Given the description of an element on the screen output the (x, y) to click on. 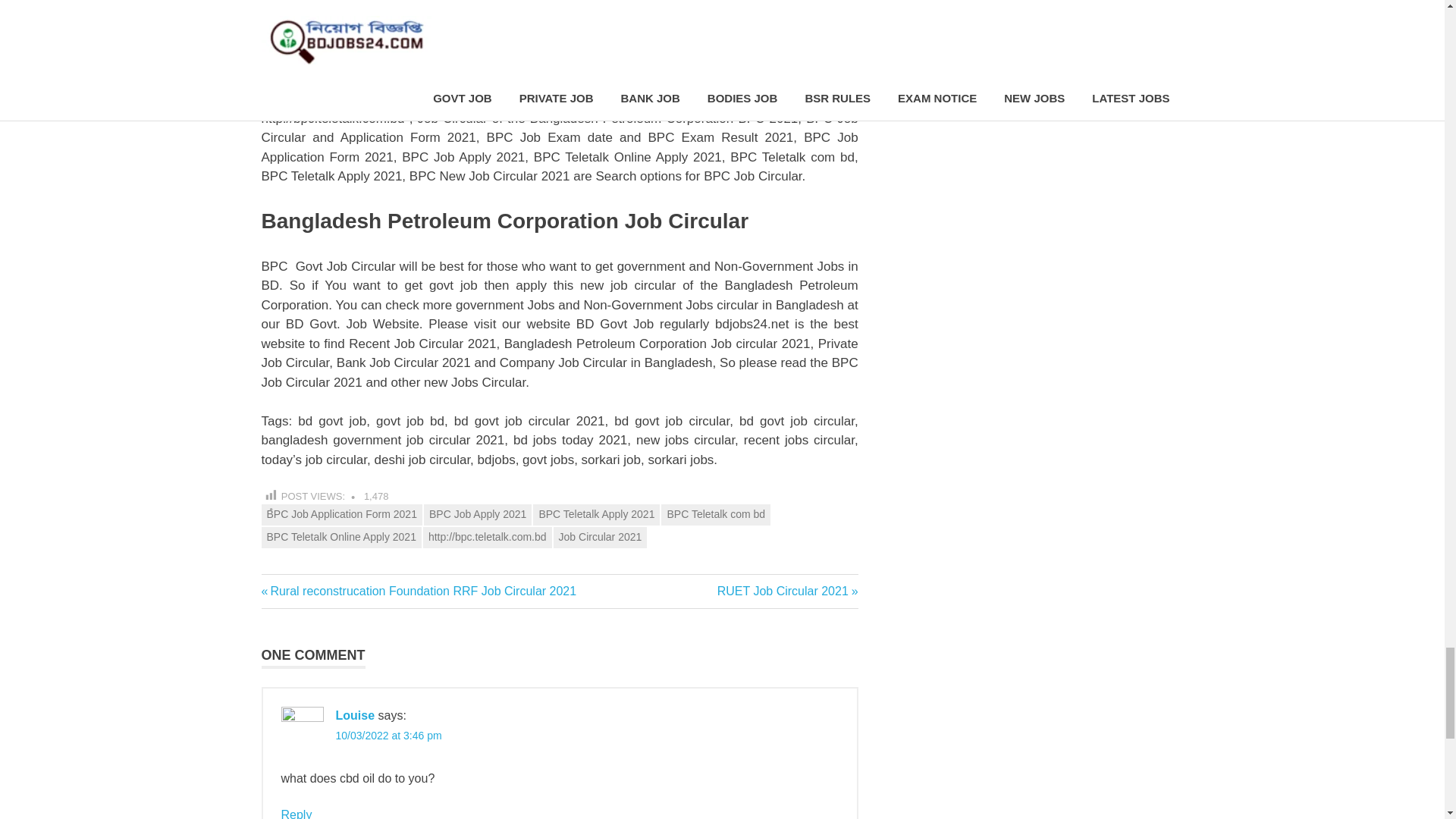
BPC Teletalk Online Apply 2021 (340, 537)
BPC Job Application Form 2021 (341, 514)
www.bdjobs24.net (547, 79)
BPC Teletalk com bd (715, 514)
BPC Teletalk Apply 2021 (595, 514)
BPC Job Apply 2021 (477, 514)
